Given the description of an element on the screen output the (x, y) to click on. 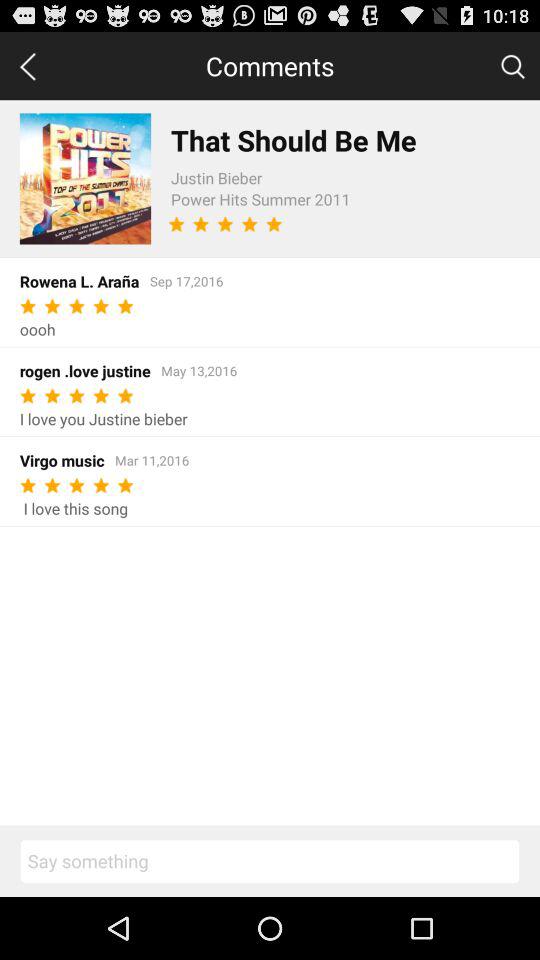
select text box (269, 861)
